Given the description of an element on the screen output the (x, y) to click on. 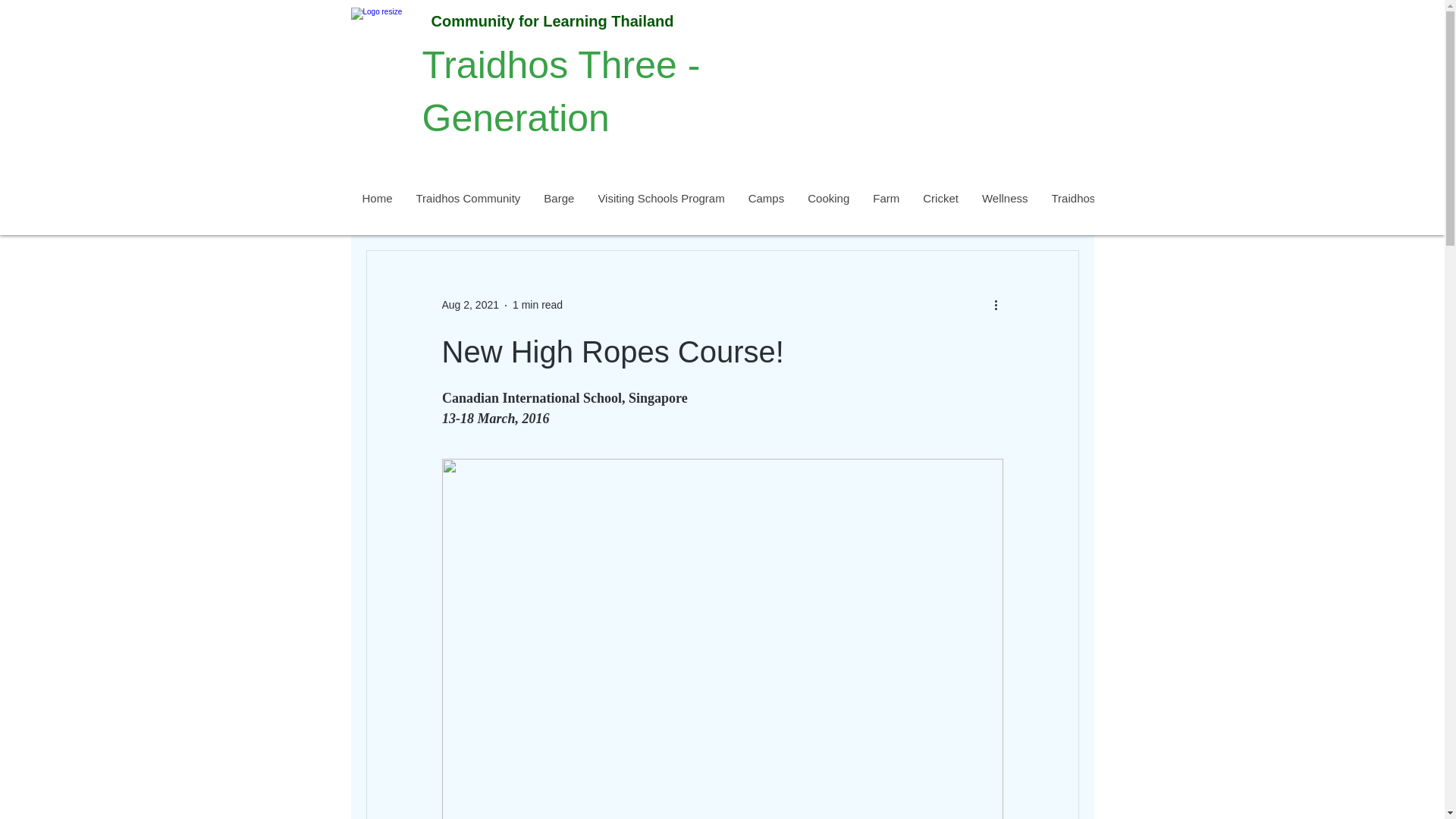
Community for Learning Thailand (551, 21)
Aug 2, 2021 (470, 304)
1 min read (537, 304)
Home (376, 208)
Visiting Schools Program (660, 208)
Barge (558, 208)
Traidhos Community (468, 208)
Traidhos Three - Generation  (561, 92)
Cooking (827, 208)
Camps (766, 208)
